Given the description of an element on the screen output the (x, y) to click on. 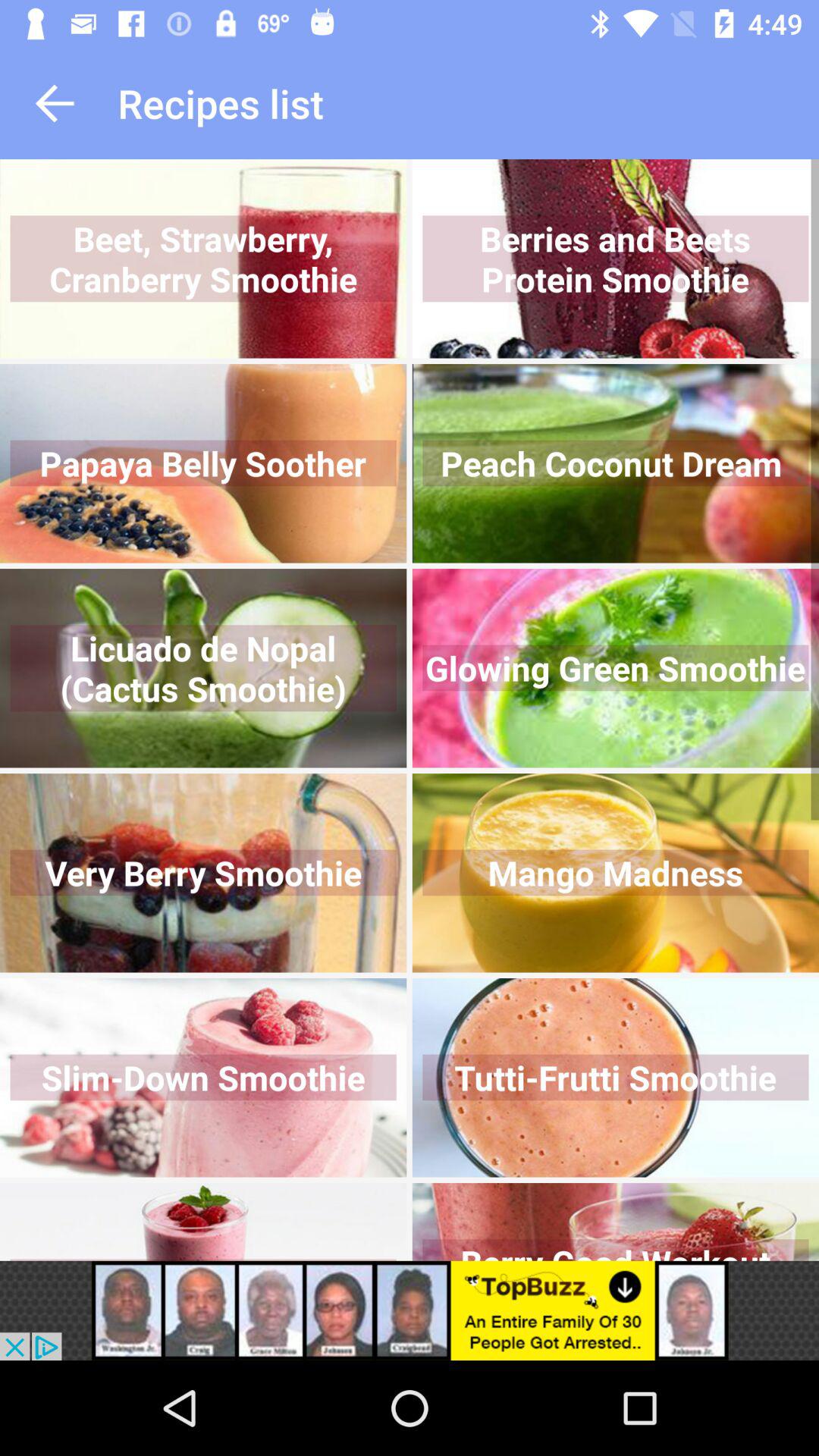
go to previous (54, 103)
